Given the description of an element on the screen output the (x, y) to click on. 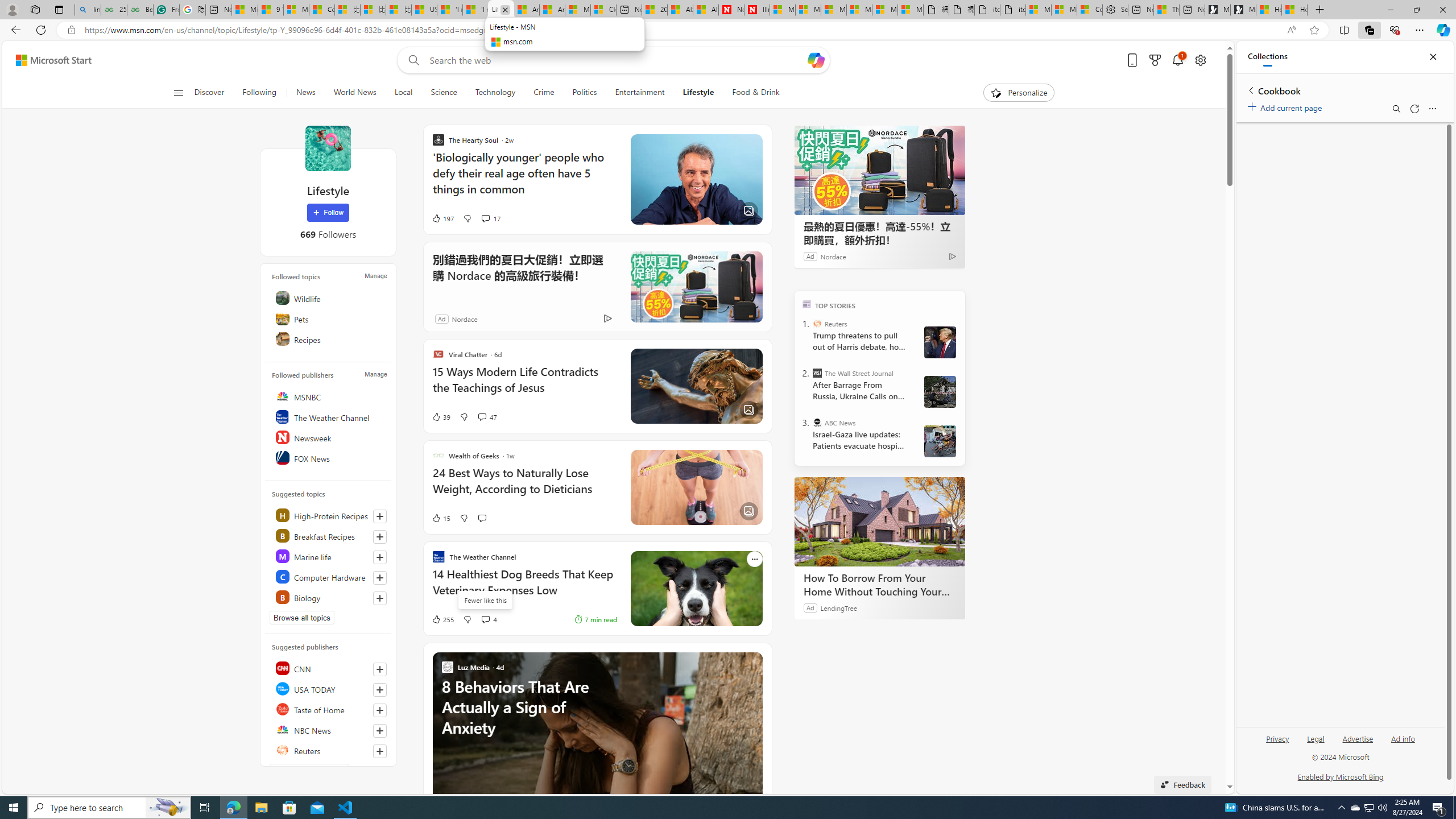
Food & Drink (756, 92)
Best SSL Certificates Provider in India - GeeksforGeeks (140, 9)
Lifestyle (697, 92)
How To Borrow From Your Home Without Touching Your Mortgage (879, 521)
Follow this source (379, 751)
World News (354, 92)
Consumer Health Data Privacy Policy (1089, 9)
Science (442, 92)
Lifestyle (327, 148)
Local (403, 92)
Feedback (1182, 784)
